Given the description of an element on the screen output the (x, y) to click on. 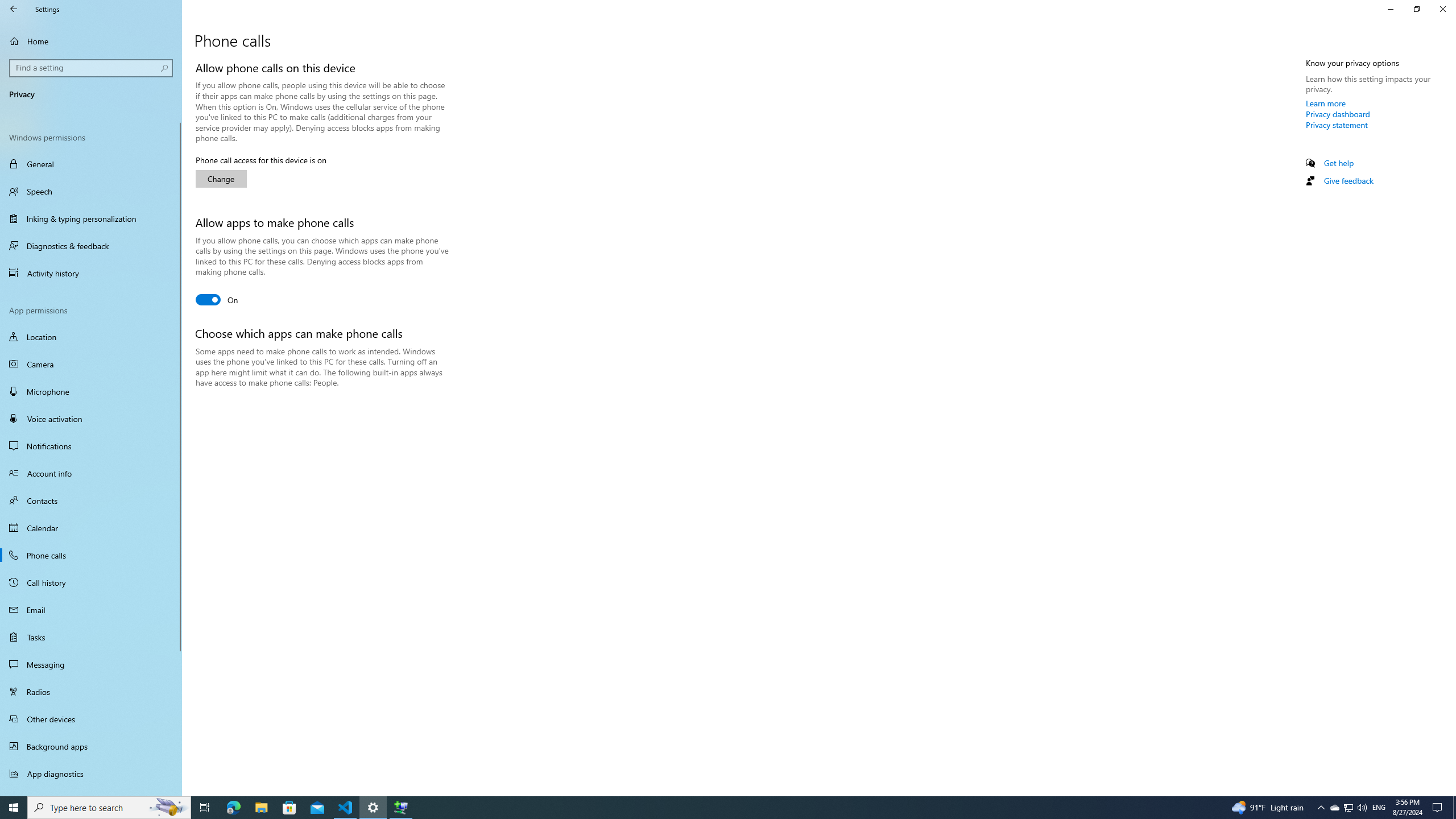
Home (91, 40)
Background apps (91, 746)
Search highlights icon opens search home window (167, 807)
Q2790: 100% (1361, 807)
Calendar (91, 527)
App diagnostics (91, 773)
Diagnostics & feedback (91, 245)
Action Center, No new notifications (1439, 807)
Other devices (91, 718)
Type here to search (108, 807)
Close Settings (1442, 9)
Voice activation (91, 418)
